Given the description of an element on the screen output the (x, y) to click on. 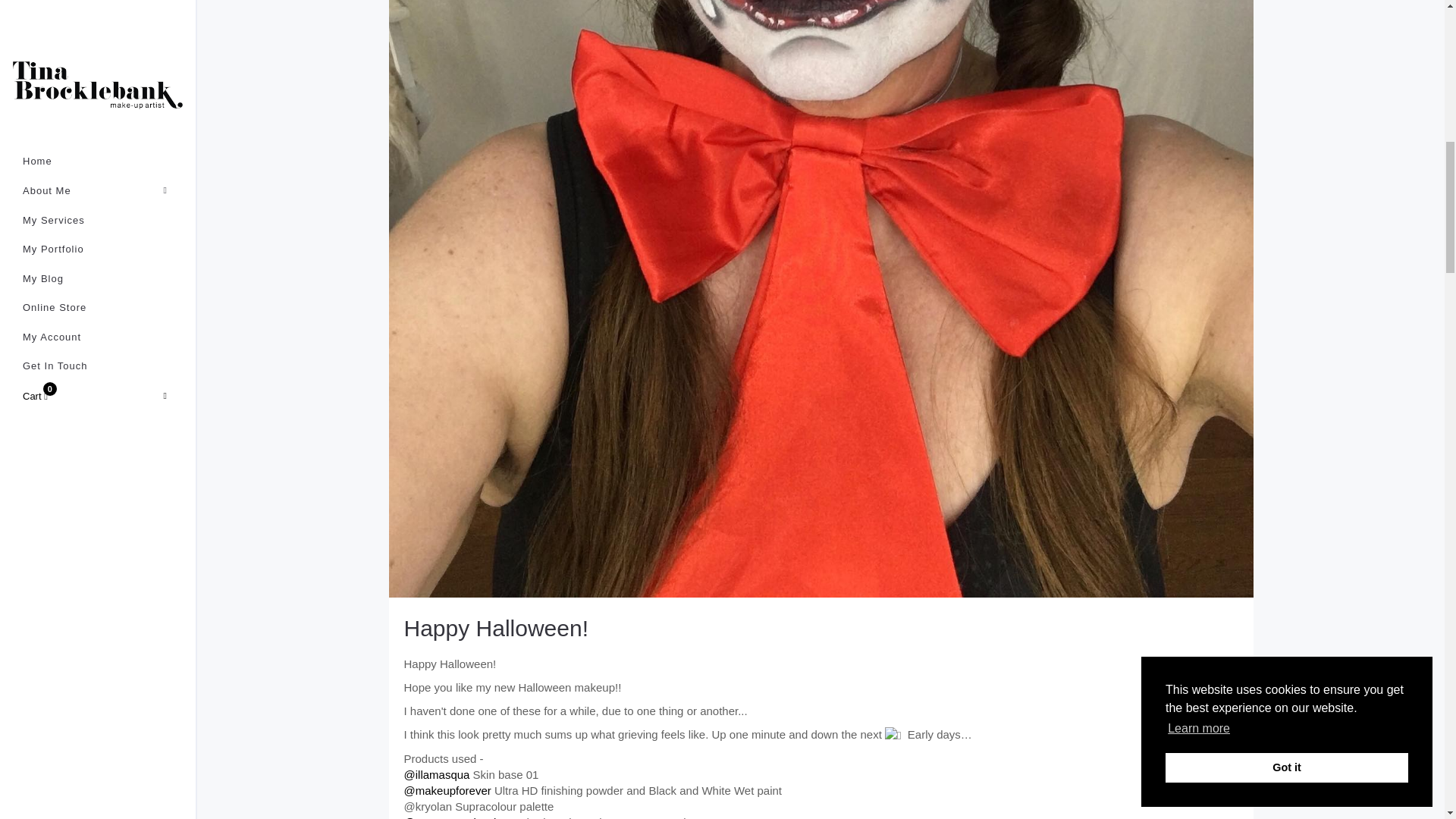
Happy Halloween! (495, 627)
